Given the description of an element on the screen output the (x, y) to click on. 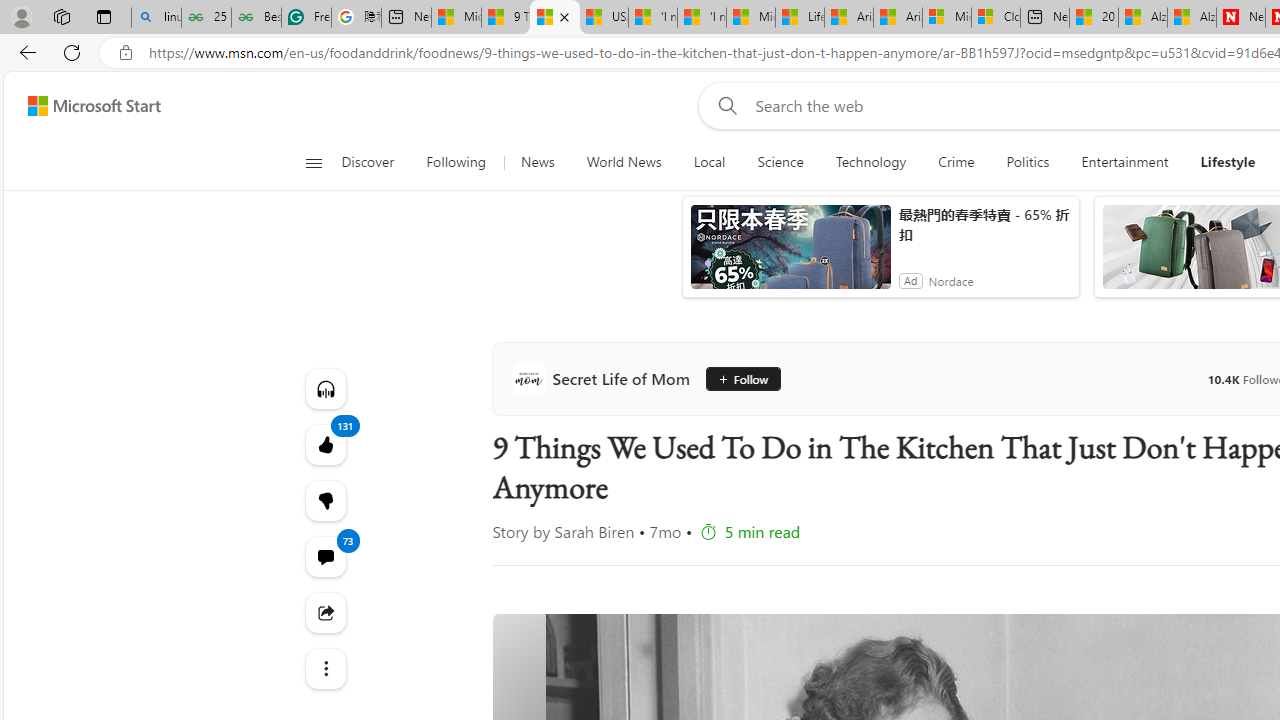
View comments 73 Comment (324, 556)
Follow (736, 378)
20 Ways to Boost Your Protein Intake at Every Meal (1093, 17)
